Given the description of an element on the screen output the (x, y) to click on. 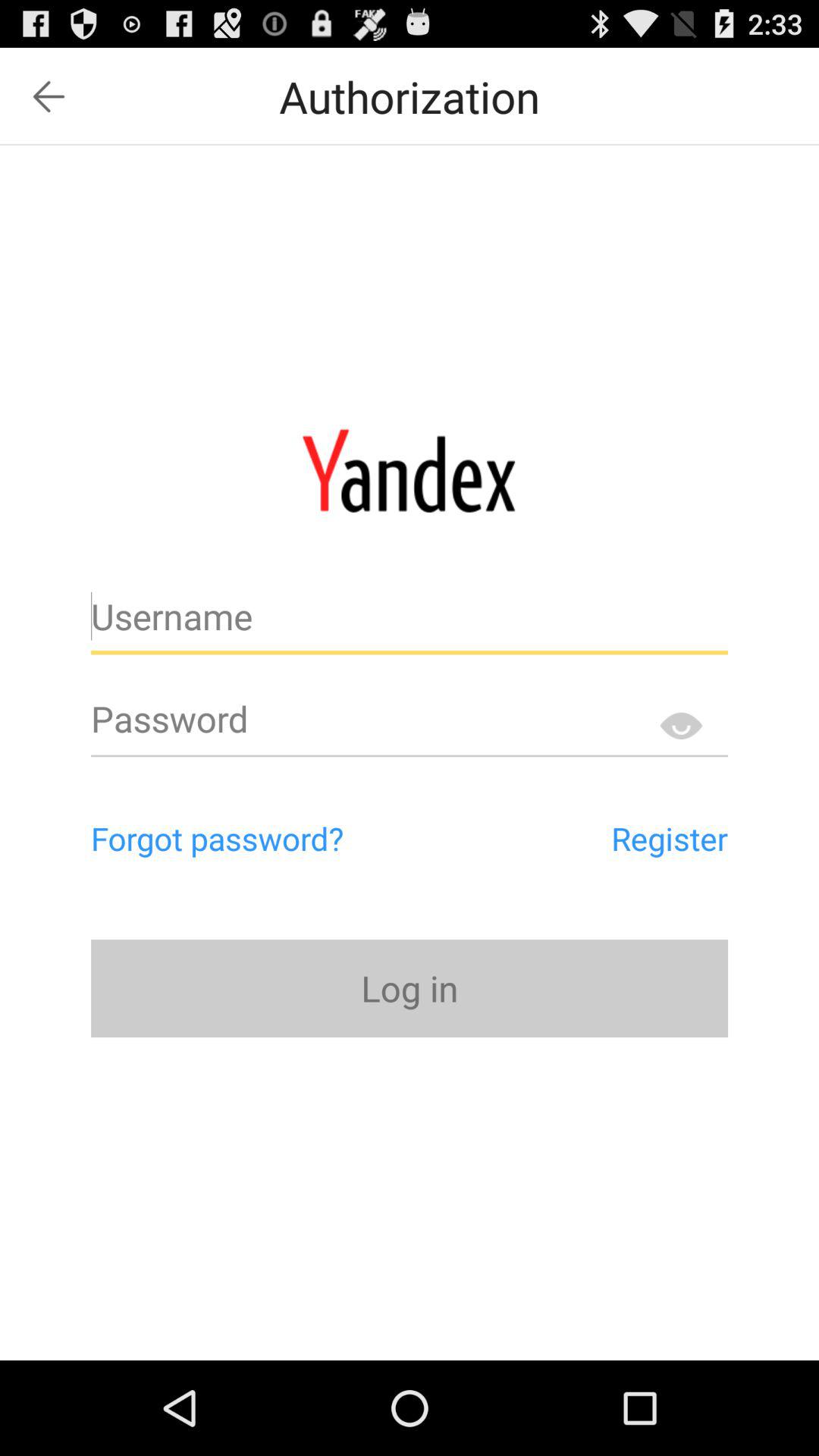
open the item below authorization icon (408, 470)
